Given the description of an element on the screen output the (x, y) to click on. 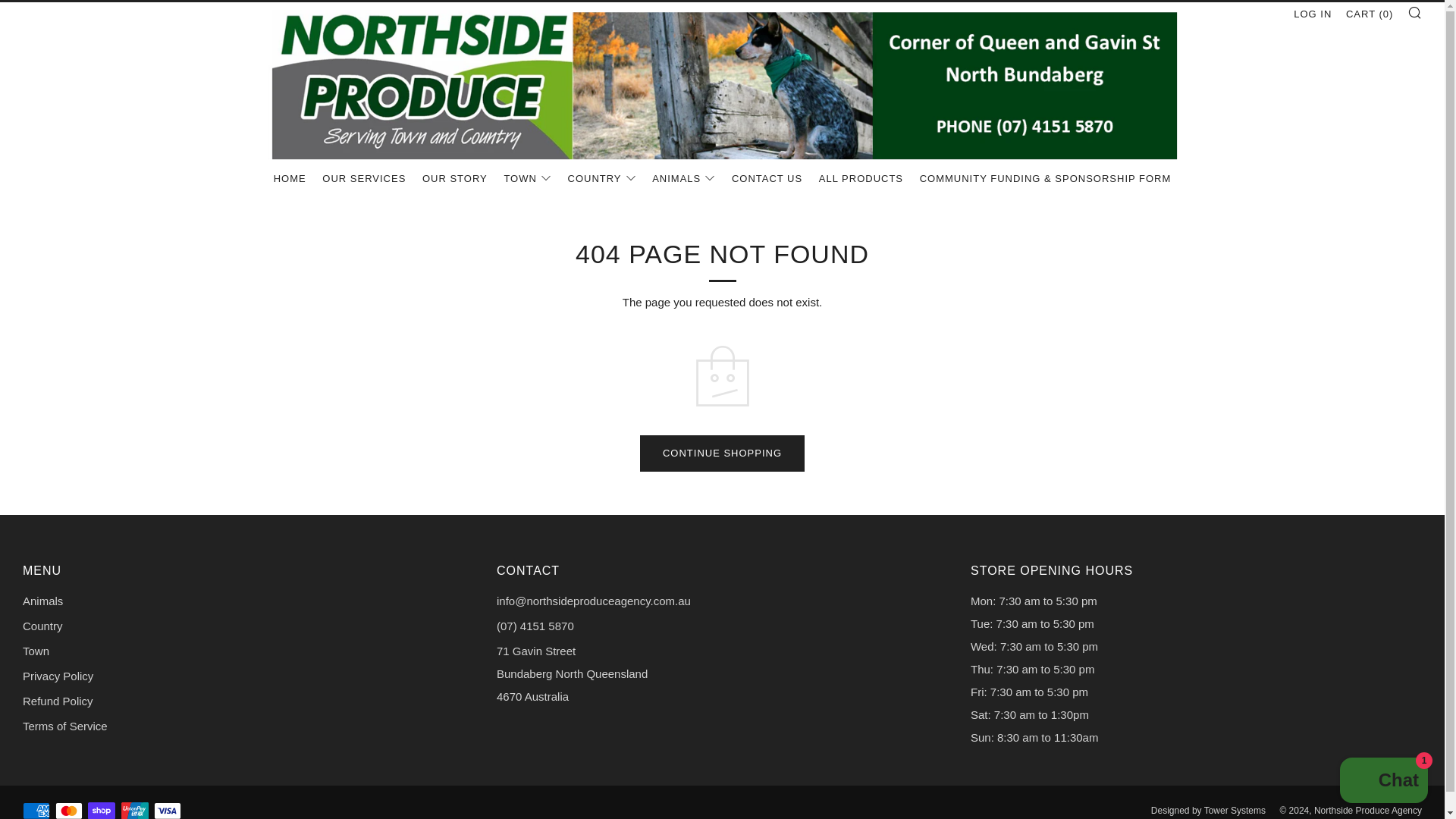
American Express (36, 806)
Union Pay (134, 806)
Shopify online store chat (1383, 781)
Shop Pay (101, 806)
Mastercard (68, 806)
Visa (167, 806)
